Given the description of an element on the screen output the (x, y) to click on. 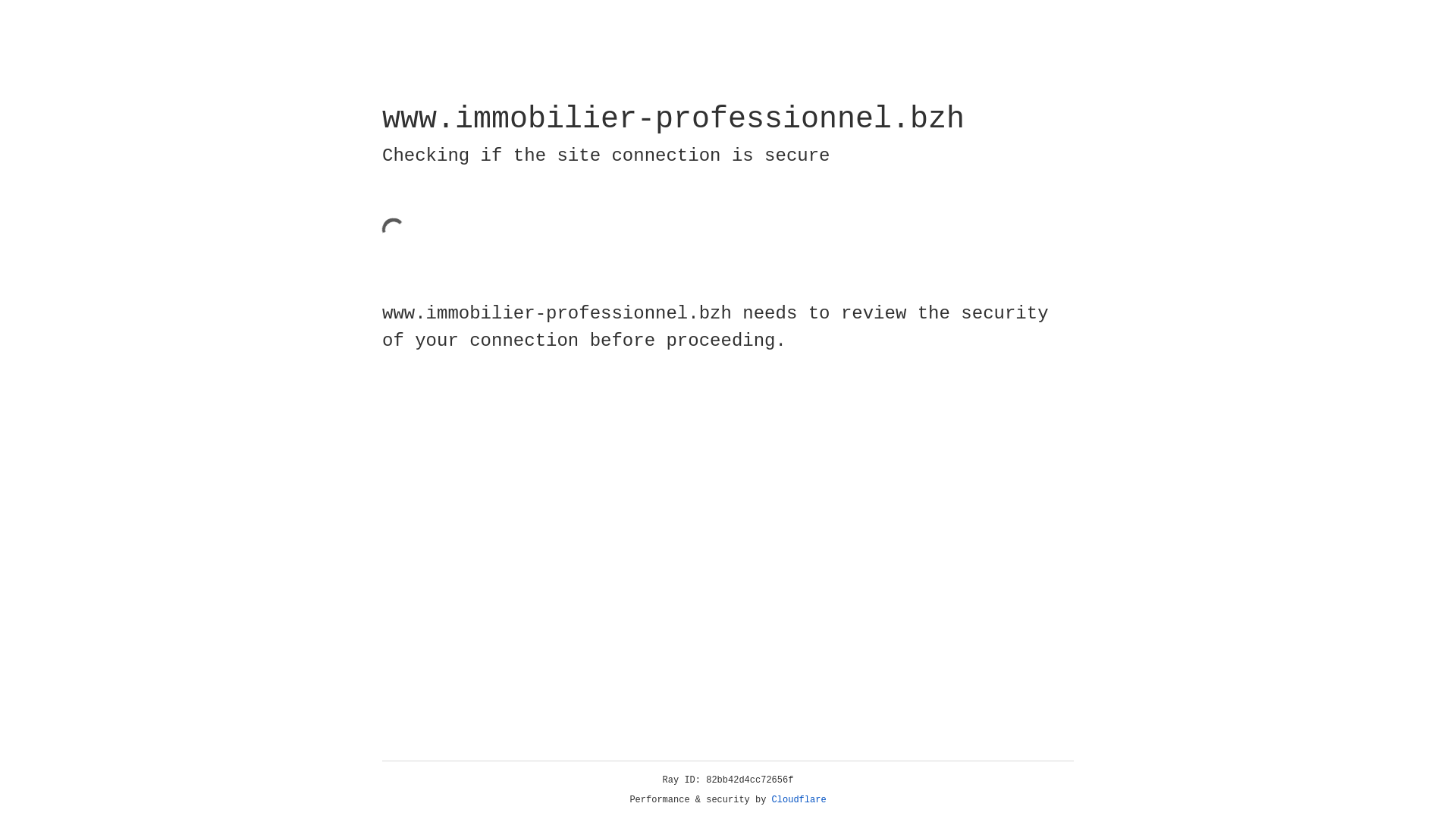
Cloudflare Element type: text (798, 799)
